Given the description of an element on the screen output the (x, y) to click on. 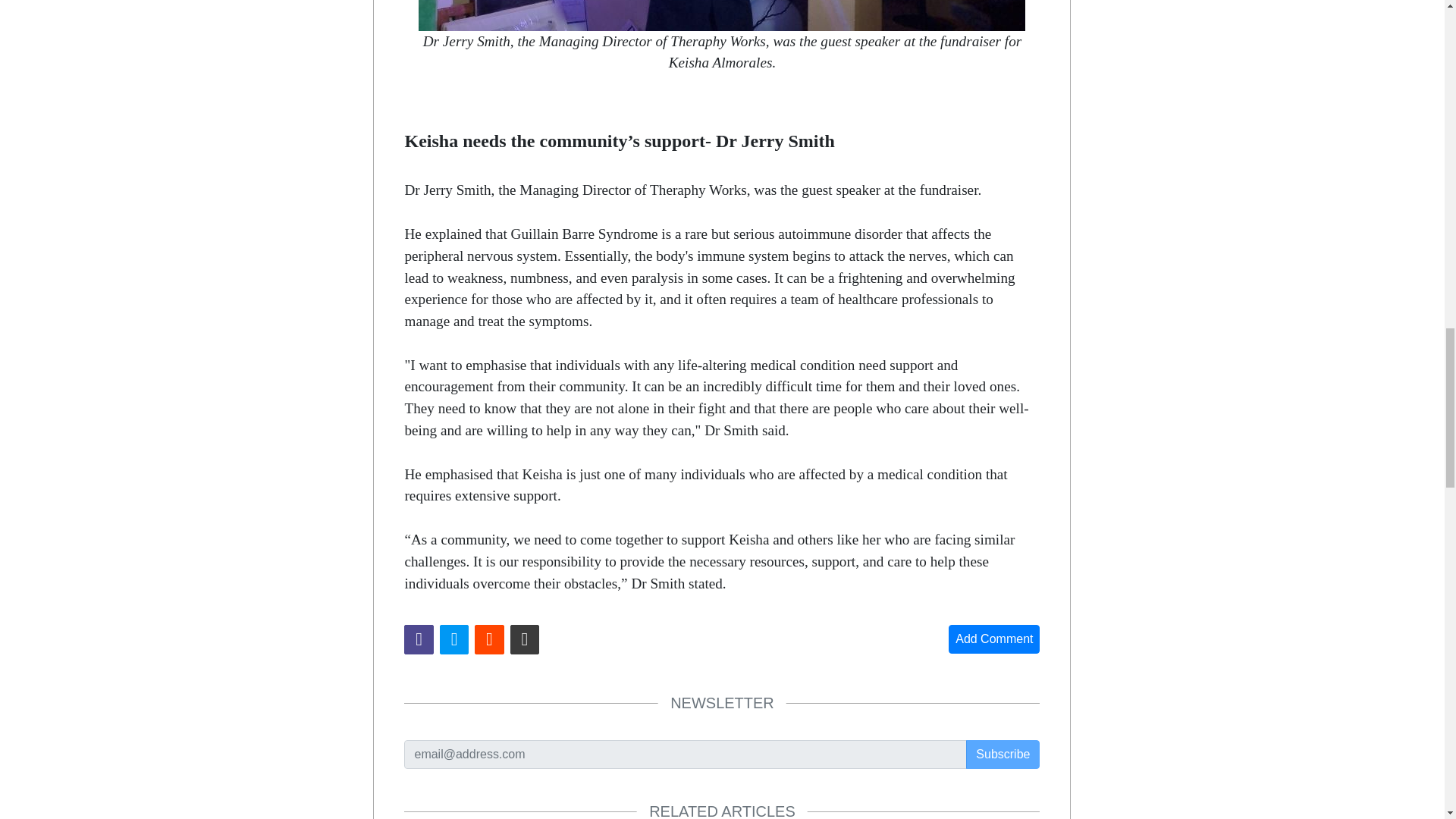
Subscribe (1002, 754)
Add Comment (994, 638)
